Given the description of an element on the screen output the (x, y) to click on. 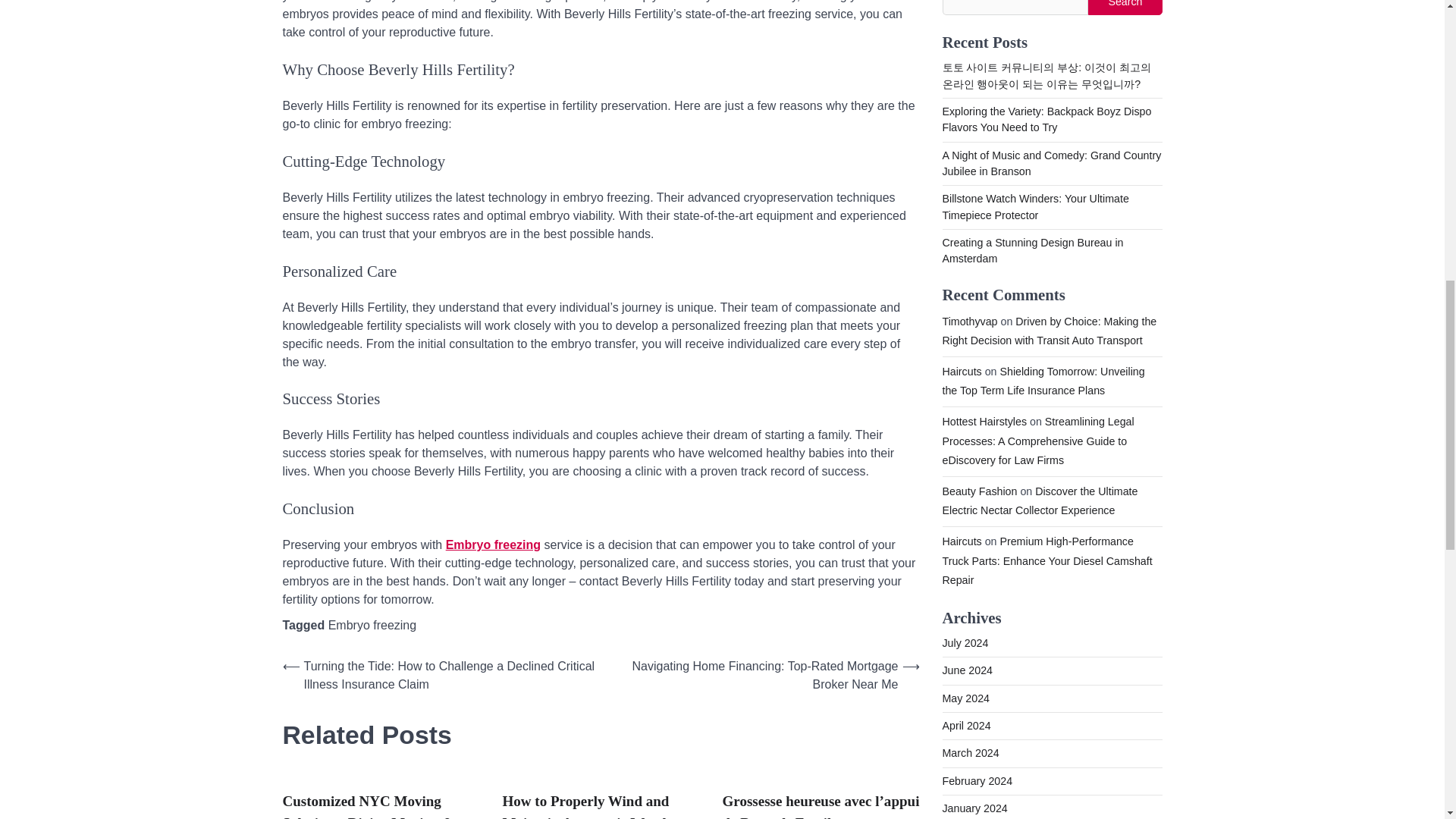
Embryo freezing (372, 625)
May 2024 (966, 119)
February 2024 (976, 202)
June 2024 (967, 91)
July 2024 (965, 64)
April 2024 (966, 146)
January 2024 (974, 229)
March 2024 (970, 174)
Embryo freezing (492, 544)
